Given the description of an element on the screen output the (x, y) to click on. 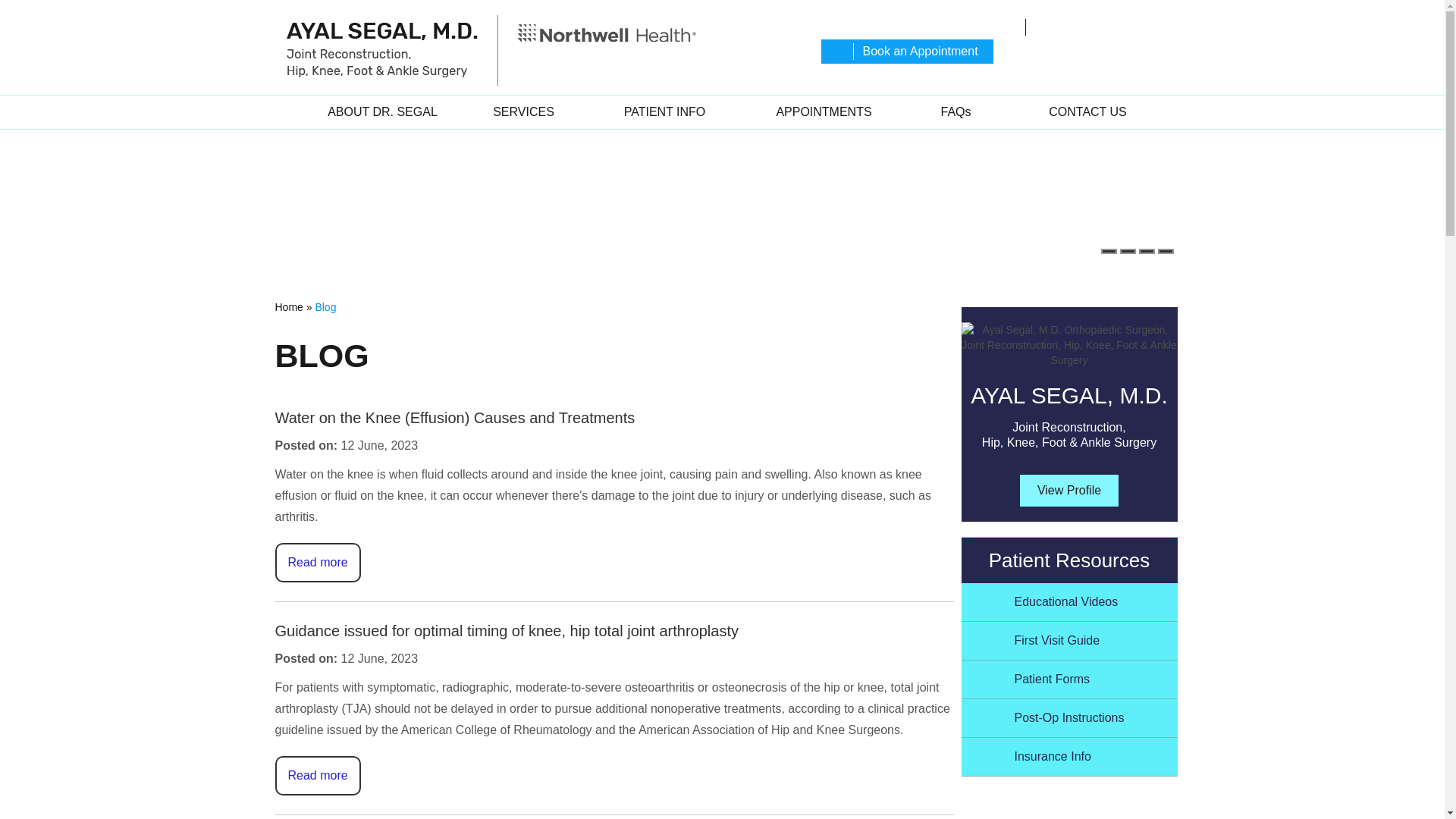
PATIENT INFO (663, 111)
Russian (1126, 55)
APPOINTMENTS (823, 111)
Italian (1098, 55)
English (1152, 55)
HOME (285, 111)
SERVICES (523, 111)
Spanish (1071, 55)
Book an Appointment (906, 51)
